Given the description of an element on the screen output the (x, y) to click on. 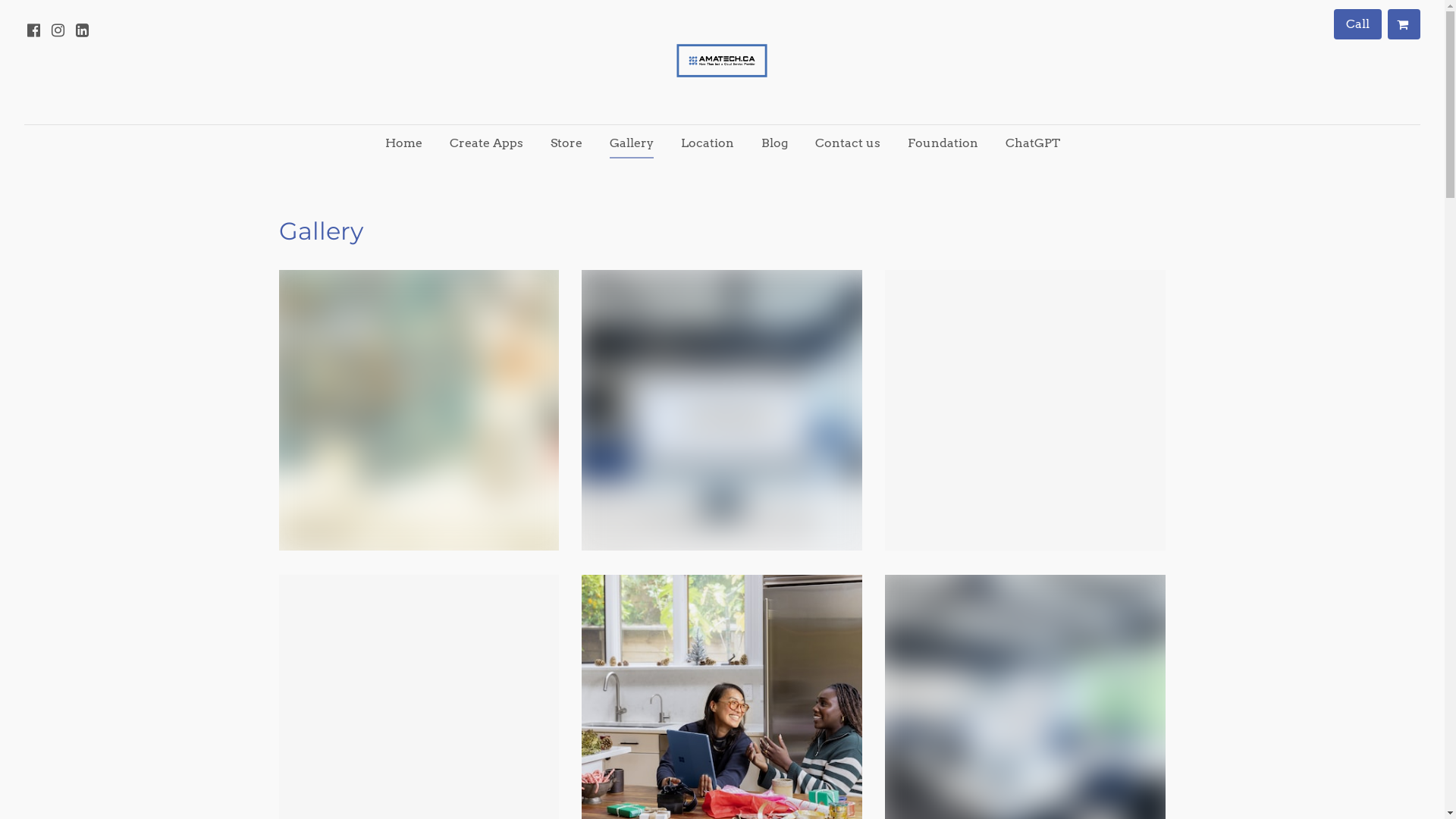
Home Element type: text (403, 143)
ChatGPT Element type: text (1032, 143)
Location Element type: text (707, 143)
Call Element type: text (1357, 24)
Store Element type: text (566, 143)
Foundation Element type: text (941, 143)
Create Apps Element type: text (485, 143)
Contact us Element type: text (846, 143)
Blog Element type: text (774, 143)
Gallery Element type: text (631, 143)
